Given the description of an element on the screen output the (x, y) to click on. 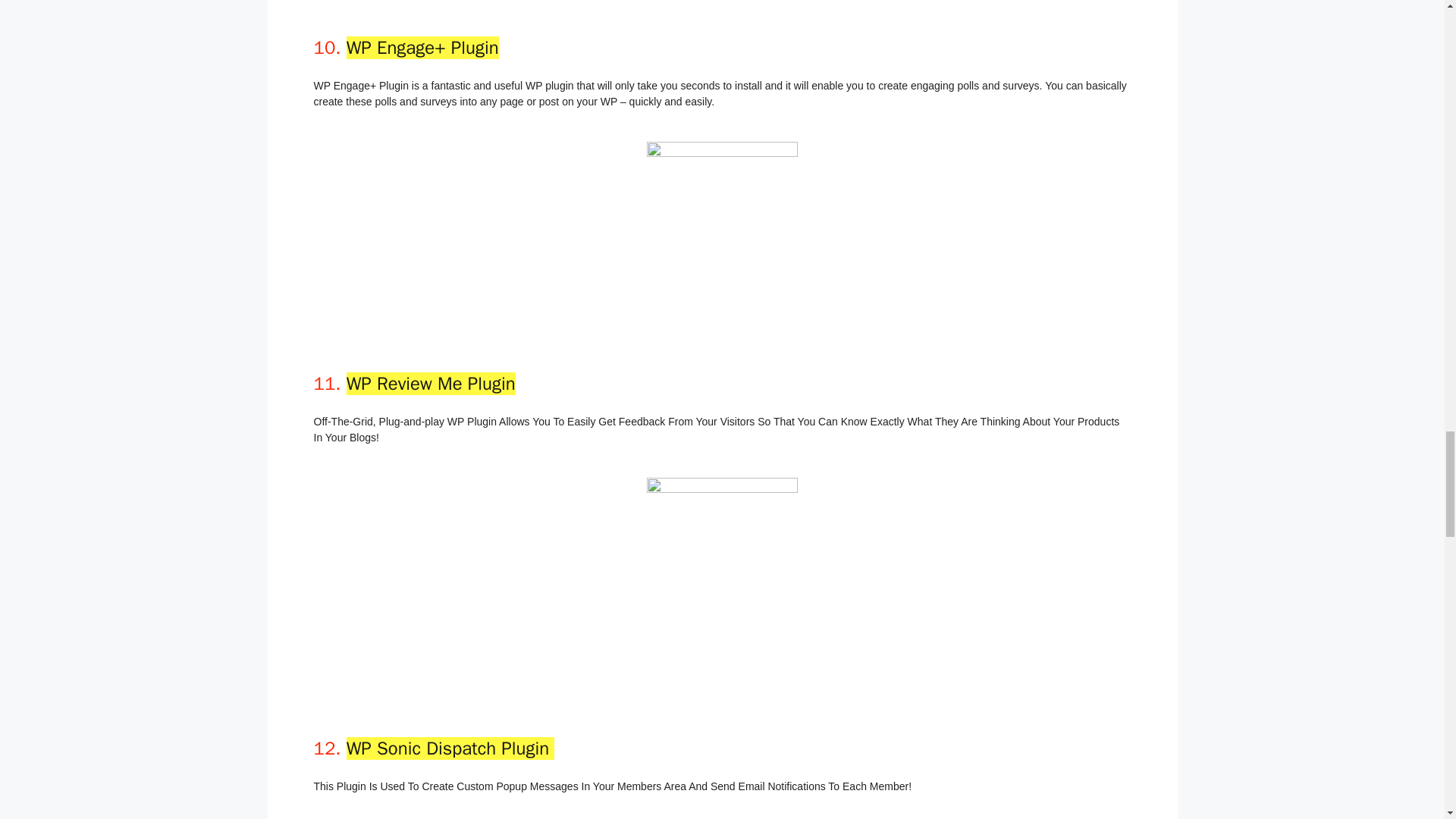
WP-Engage-Plugin (721, 224)
